Given the description of an element on the screen output the (x, y) to click on. 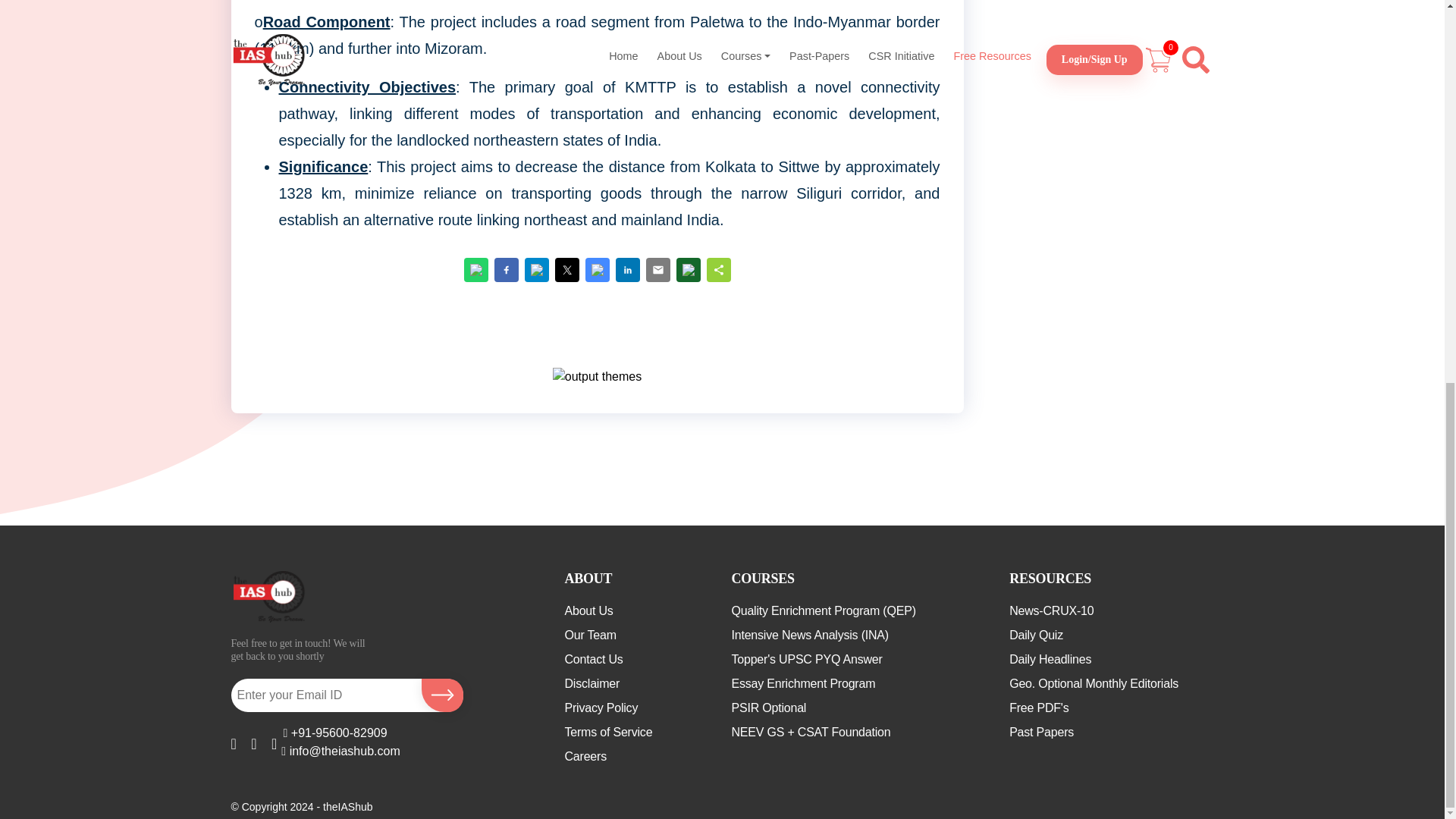
Invalid email address (323, 695)
